Given the description of an element on the screen output the (x, y) to click on. 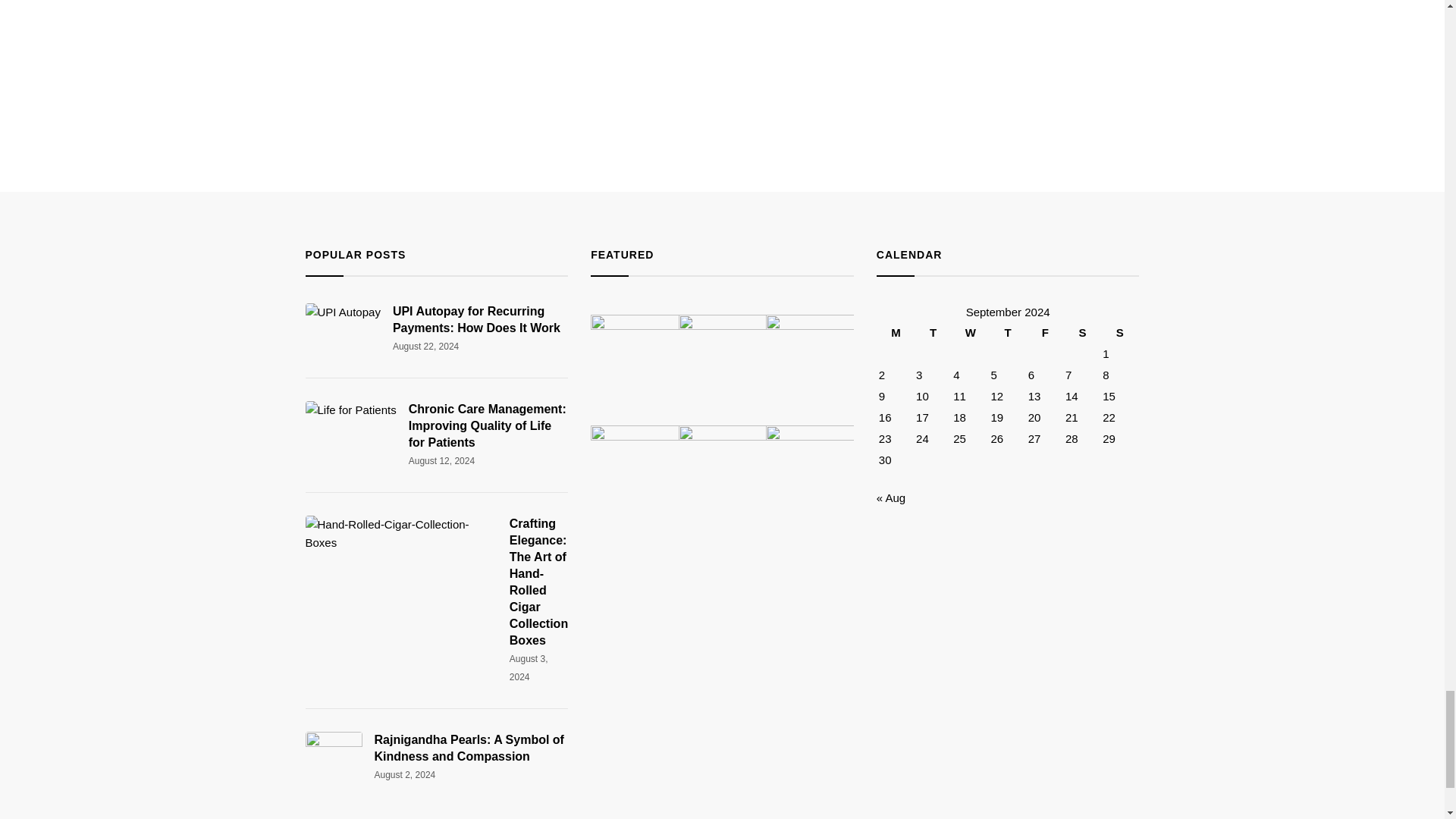
Tuesday (932, 332)
Thursday (1008, 332)
Monday (895, 332)
Friday (1044, 332)
Sunday (1119, 332)
Wednesday (970, 332)
Saturday (1082, 332)
